Given the description of an element on the screen output the (x, y) to click on. 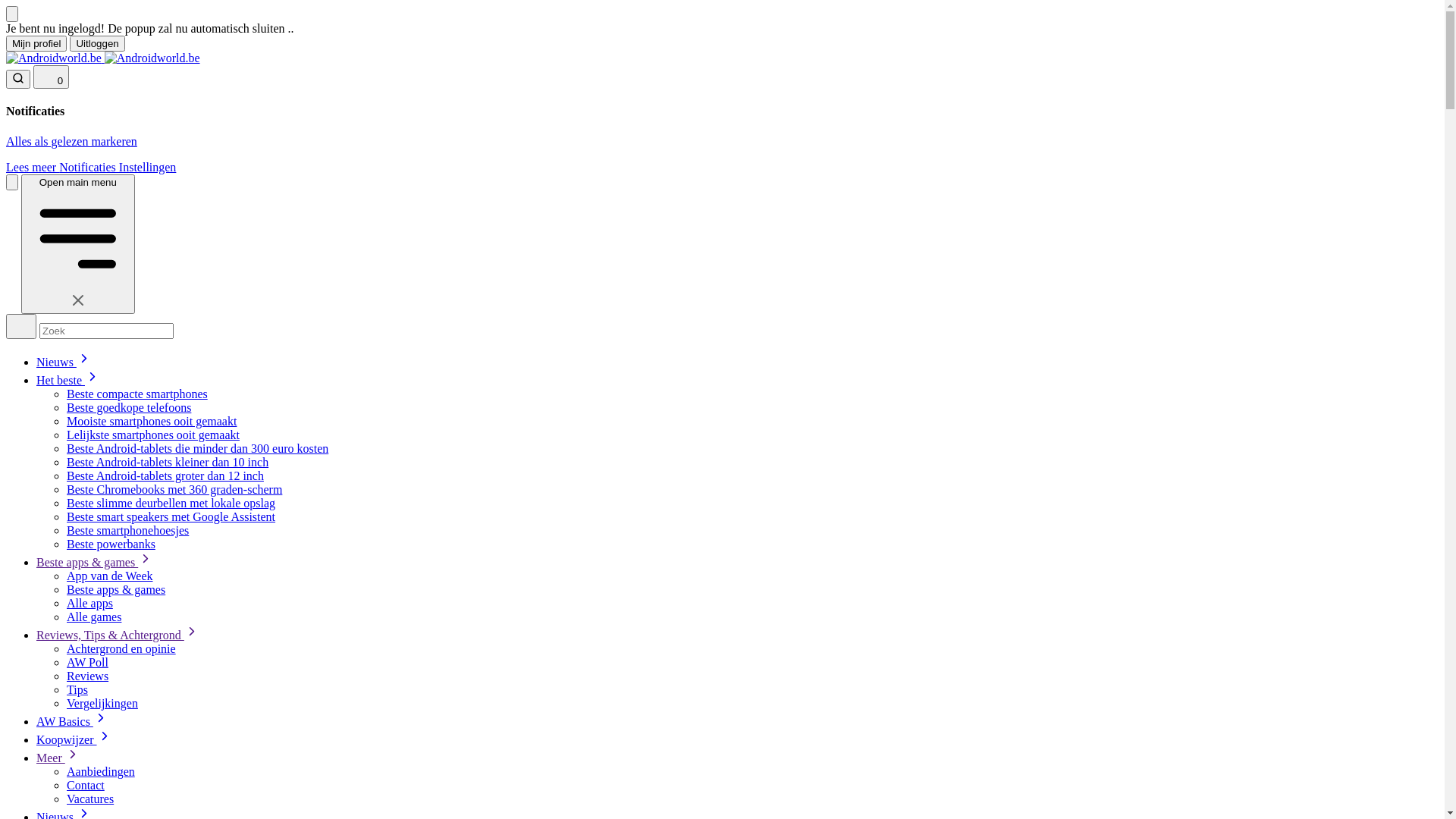
Notificaties Instellingen Element type: text (117, 166)
Nieuws Element type: text (63, 361)
Beste smart speakers met Google Assistent Element type: text (170, 516)
Beste apps & games Element type: text (115, 589)
0 Element type: text (51, 76)
Lelijkste smartphones ooit gemaakt Element type: text (152, 434)
Aanbiedingen Element type: text (100, 771)
Beste goedkope telefoons Element type: text (128, 407)
Beste Android-tablets die minder dan 300 euro kosten Element type: text (197, 448)
AW Basics Element type: text (72, 721)
Contact Element type: text (85, 784)
Open main menu Element type: text (77, 244)
Meer Element type: text (58, 757)
Beste Chromebooks met 360 graden-scherm Element type: text (174, 489)
Alle games Element type: text (93, 616)
Alle apps Element type: text (89, 602)
Beste Android-tablets groter dan 12 inch Element type: text (164, 475)
Tips Element type: text (76, 689)
Beste smartphonehoesjes Element type: text (127, 530)
Alles als gelezen markeren Element type: text (71, 140)
Lees meer Element type: text (32, 166)
Beste apps & games Element type: text (94, 561)
Achtergrond en opinie Element type: text (120, 648)
Beste slimme deurbellen met lokale opslag Element type: text (170, 502)
AW Poll Element type: text (87, 661)
Reviews Element type: text (87, 675)
Koopwijzer Element type: text (74, 739)
Beste compacte smartphones Element type: text (136, 393)
Uitloggen Element type: text (96, 43)
Mijn profiel Element type: text (36, 43)
Het beste Element type: text (68, 379)
Mooiste smartphones ooit gemaakt Element type: text (151, 420)
Beste powerbanks Element type: text (110, 543)
Vergelijkingen Element type: text (102, 702)
Reviews, Tips & Achtergrond Element type: text (117, 634)
Vacatures Element type: text (89, 798)
Beste Android-tablets kleiner dan 10 inch Element type: text (167, 461)
App van de Week Element type: text (109, 575)
